Given the description of an element on the screen output the (x, y) to click on. 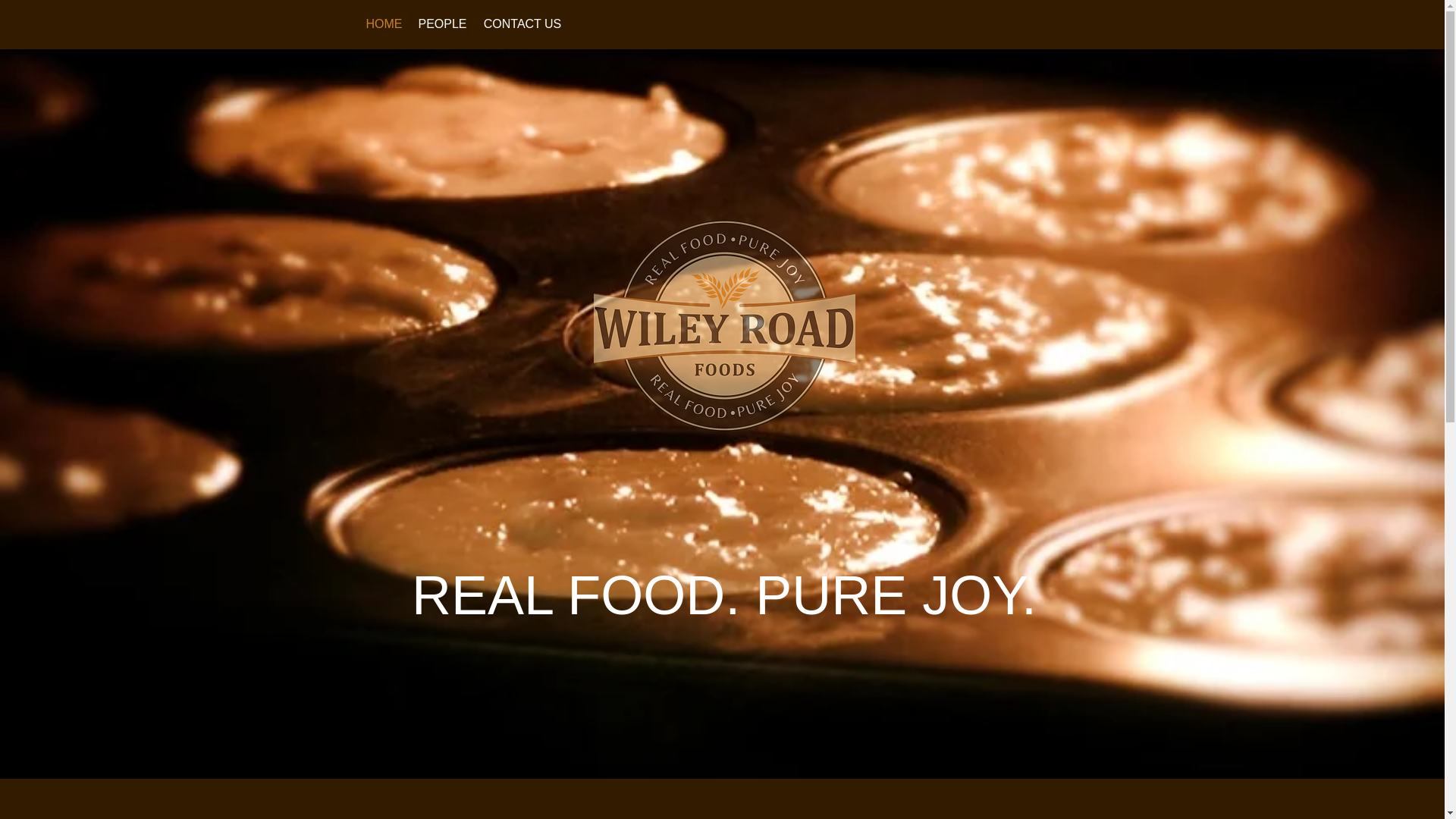
PEOPLE (441, 24)
CONTACT US (521, 24)
HOME (383, 24)
